Given the description of an element on the screen output the (x, y) to click on. 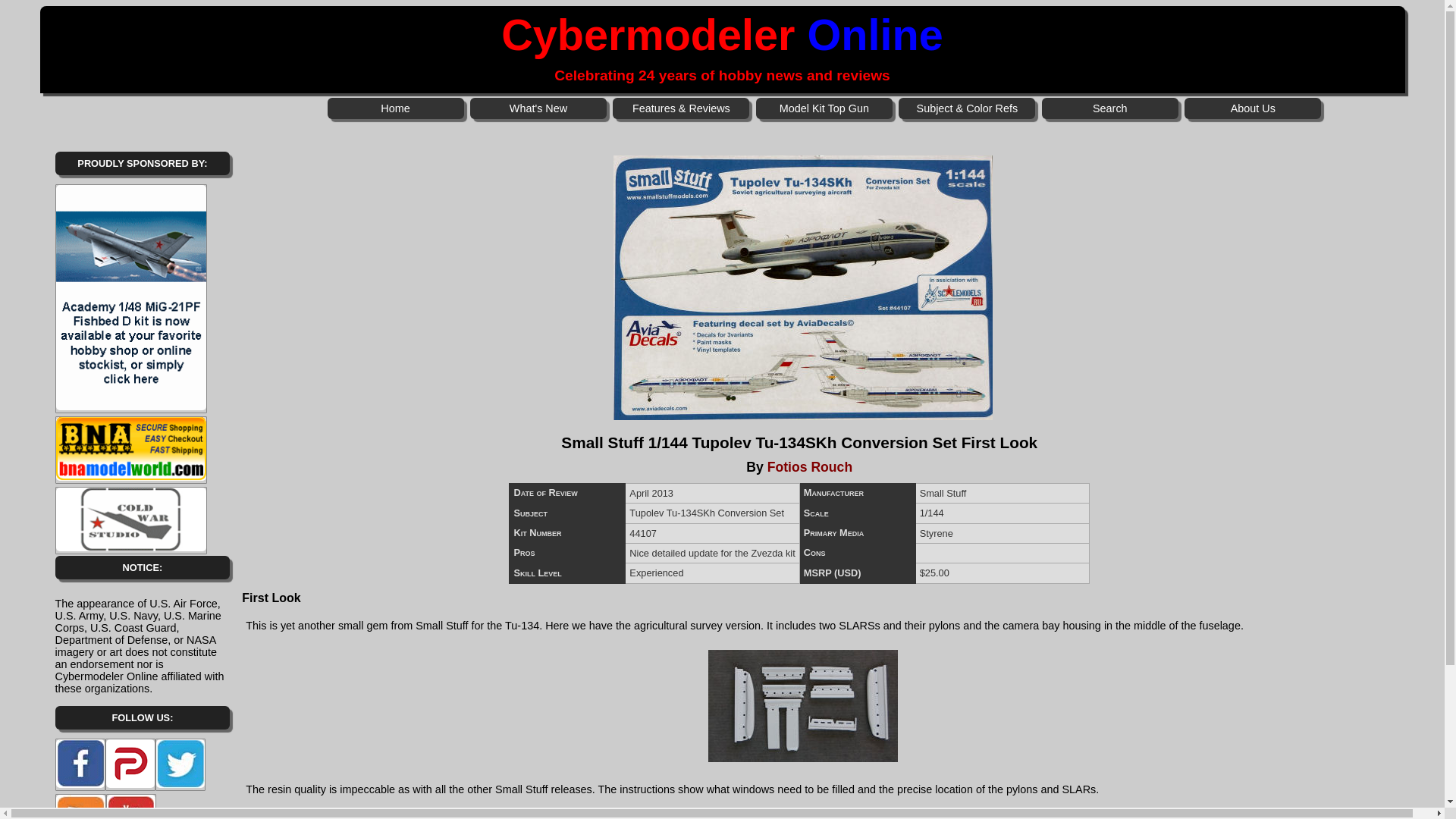
Home (395, 107)
About Us (1252, 107)
What's New (538, 107)
Fotios Rouch (809, 467)
Model Kit Top Gun (823, 107)
Search (1109, 107)
